Given the description of an element on the screen output the (x, y) to click on. 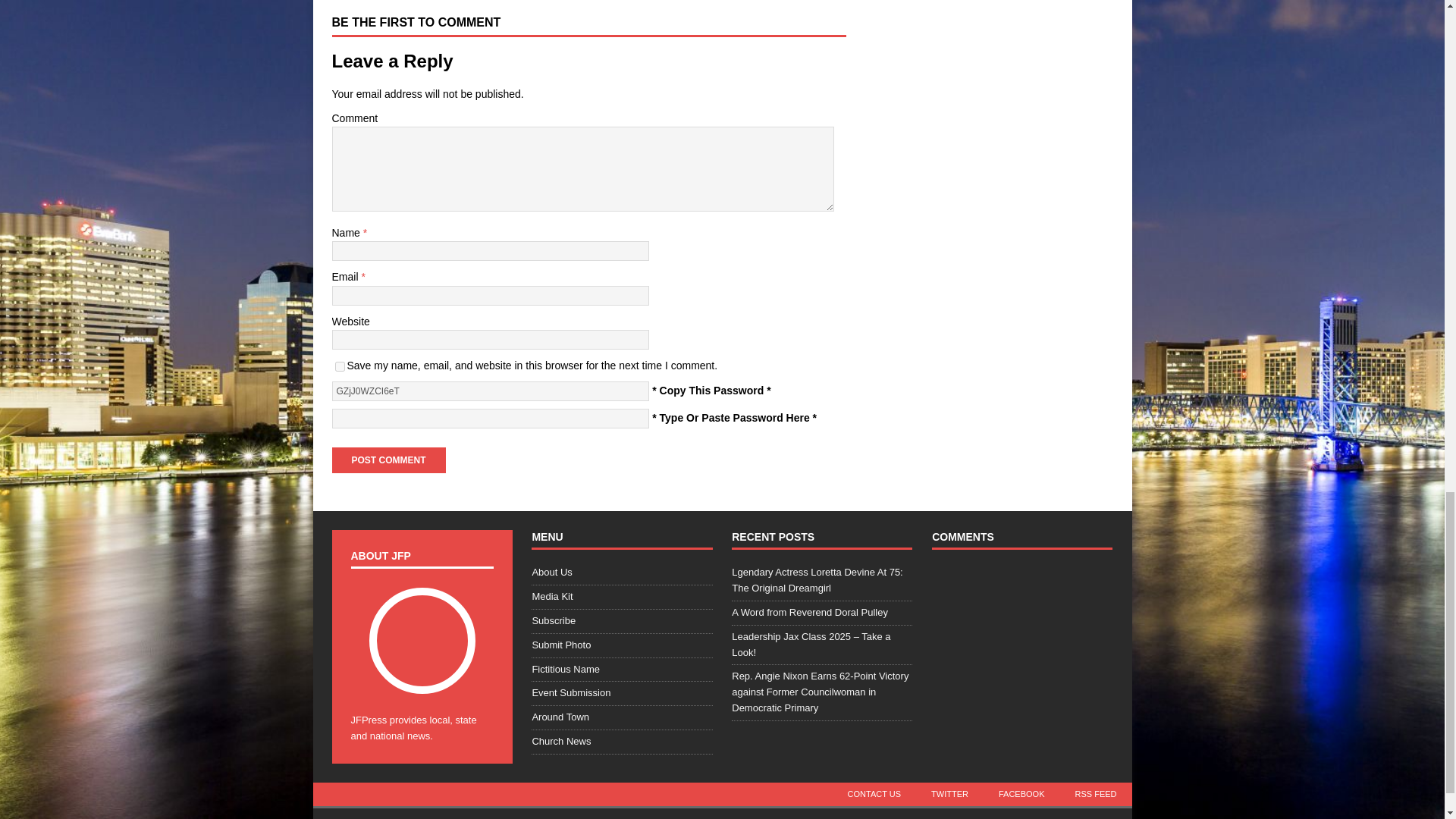
GZjJ0WZCI6eT (490, 391)
Post Comment (388, 460)
yes (339, 366)
